Given the description of an element on the screen output the (x, y) to click on. 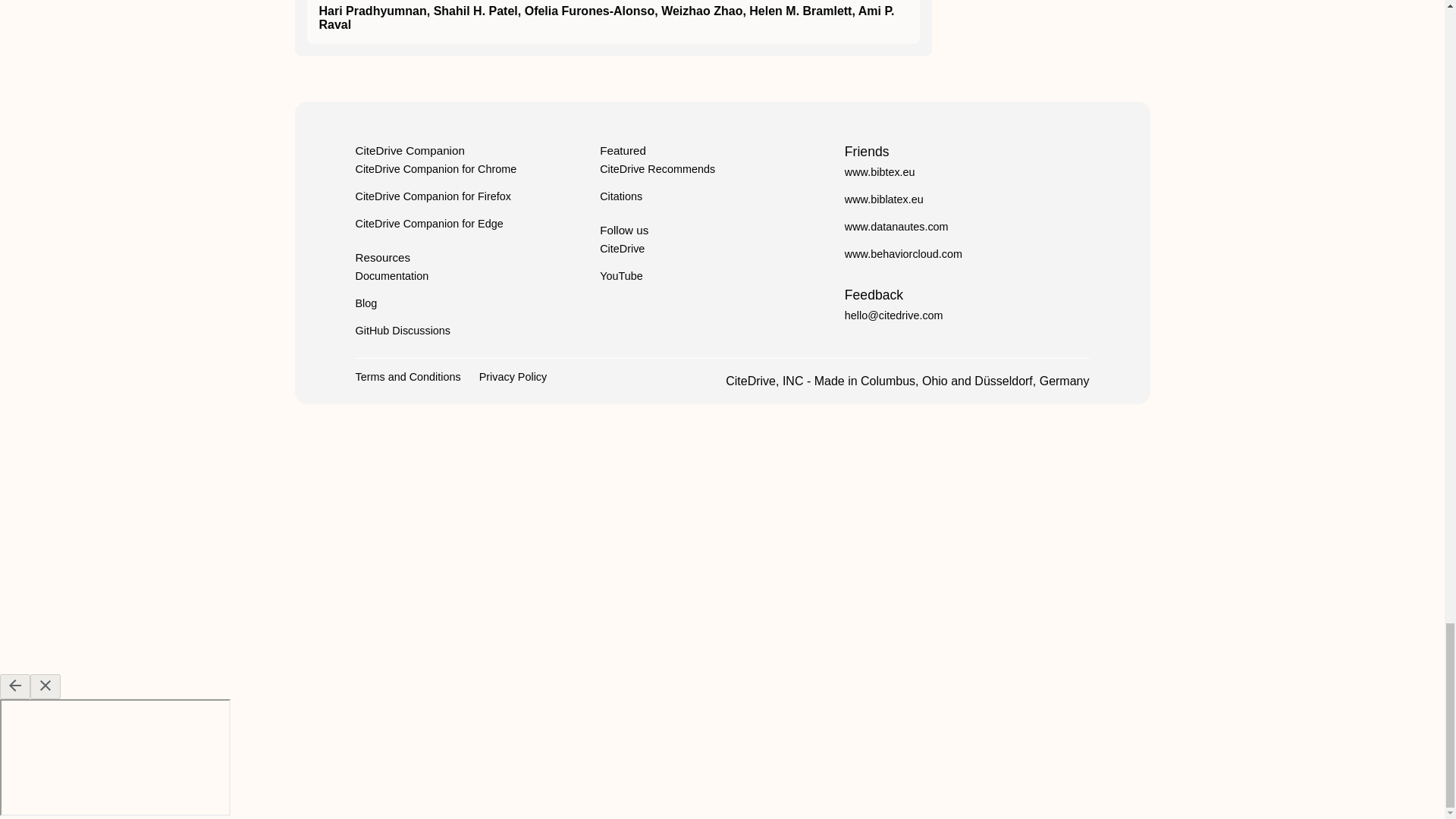
GitHub Discussions (402, 330)
YouTube (621, 275)
Documentation (391, 275)
CiteDrive (622, 248)
CiteDrive Companion for Edge (428, 223)
Citations (620, 196)
www.biblatex.eu (883, 199)
CiteDrive Companion for Firefox (433, 196)
CiteDrive Companion for Chrome (435, 168)
